Given the description of an element on the screen output the (x, y) to click on. 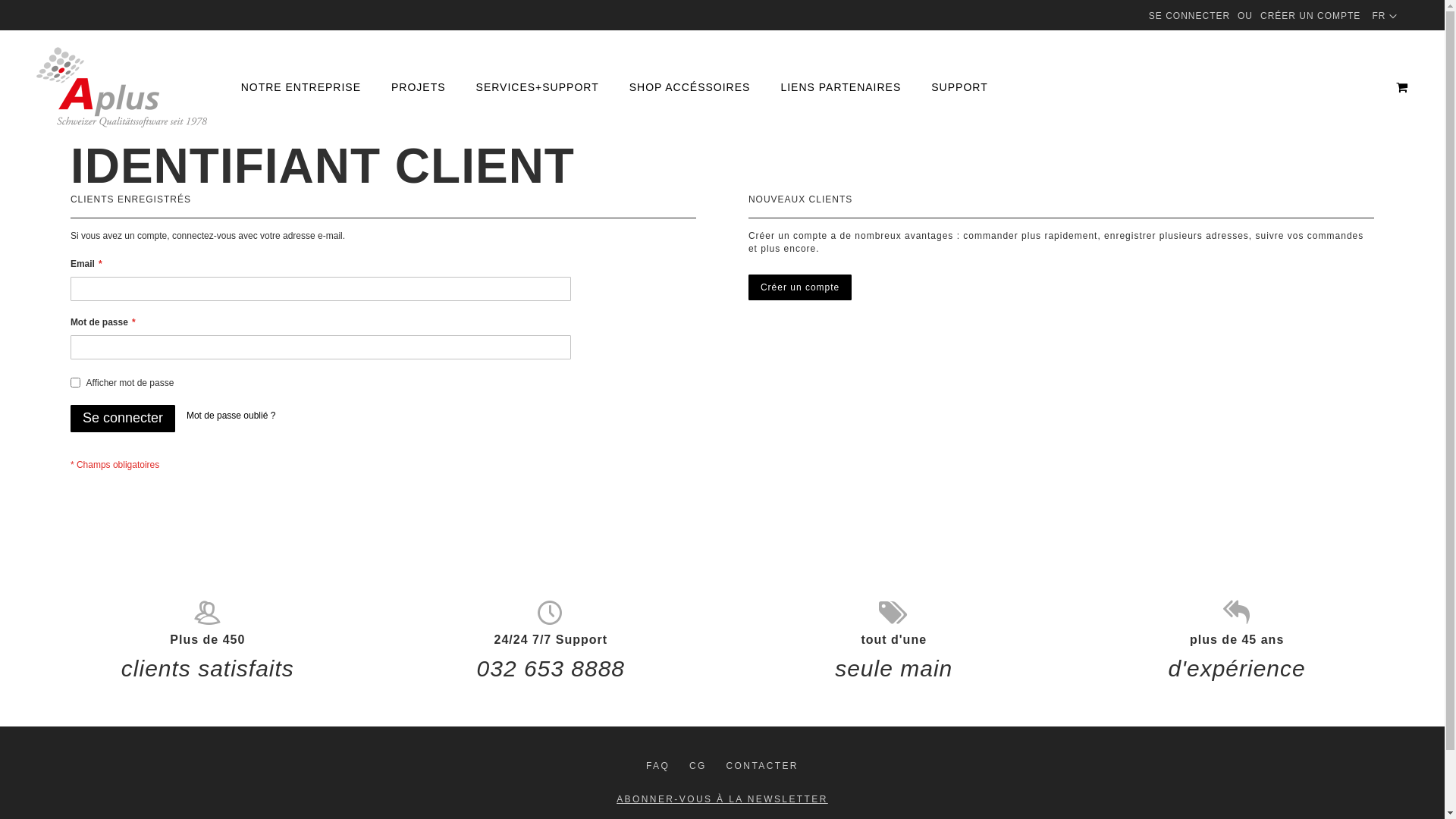
SUPPORT Element type: text (959, 87)
NOTRE ENTREPRISE Element type: text (300, 87)
SE CONNECTER Element type: text (1189, 15)
Se connecter Element type: text (122, 418)
Show Password Element type: hover (75, 382)
032 653 8888 Element type: text (550, 667)
Mot de passe Element type: hover (320, 347)
FAQ Element type: text (657, 765)
MON PANIER Element type: text (1402, 86)
SERVICES+SUPPORT Element type: text (537, 87)
CONTACTER Element type: text (762, 765)
Email Element type: hover (320, 288)
LIENS PARTENAIRES Element type: text (840, 87)
CG Element type: text (697, 765)
PROJETS Element type: text (418, 87)
